Given the description of an element on the screen output the (x, y) to click on. 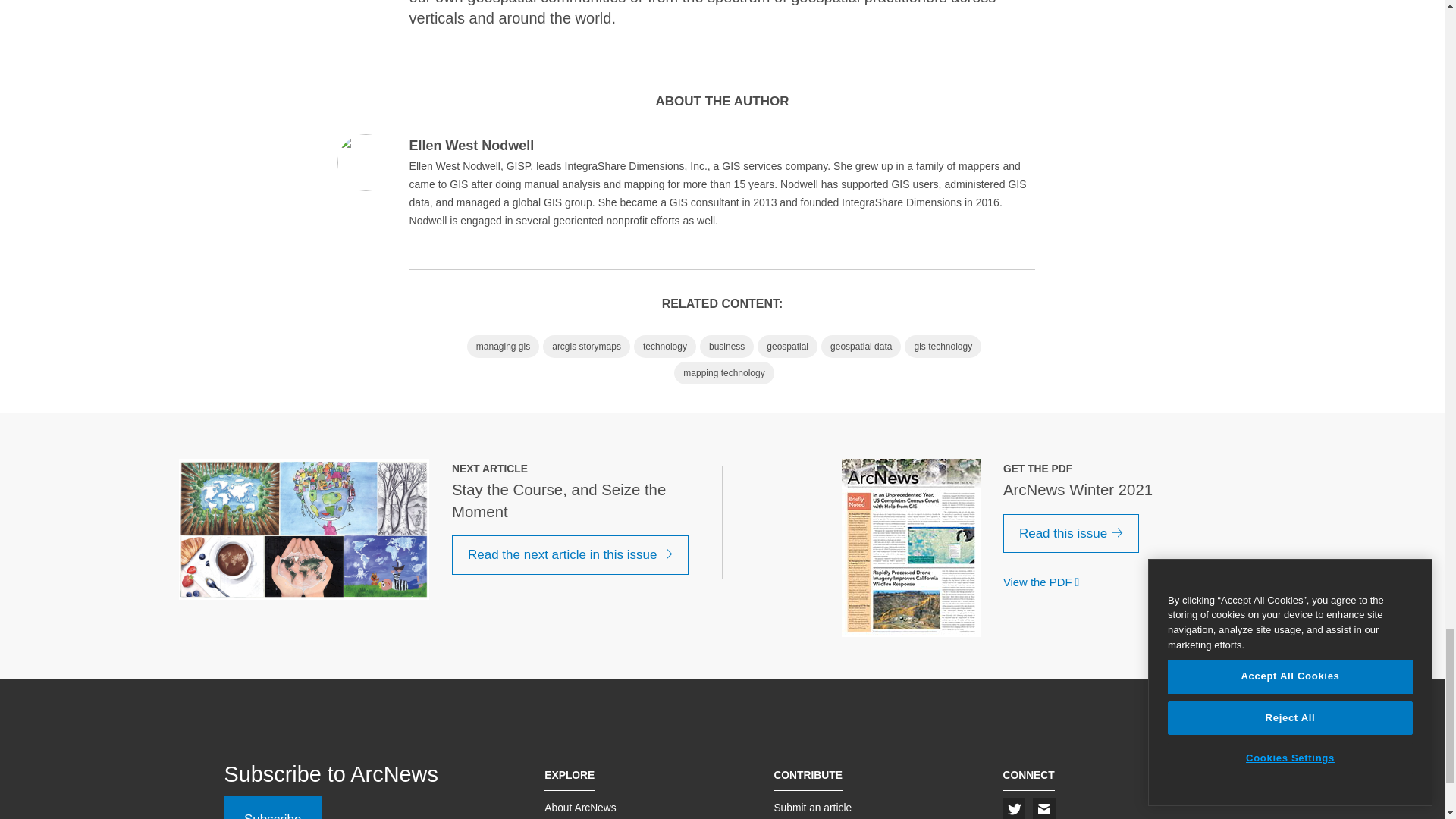
About ArcNews (579, 807)
gis technology (942, 345)
View the PDF (1044, 582)
technology (664, 345)
Subscribe (272, 807)
Read this issue (1070, 533)
managing gis (502, 345)
business (727, 345)
Read the next article in this issue (569, 554)
mapping technology (723, 372)
Submit an article (812, 807)
geospatial (786, 345)
geospatial data (861, 345)
arcgis storymaps (586, 345)
